Given the description of an element on the screen output the (x, y) to click on. 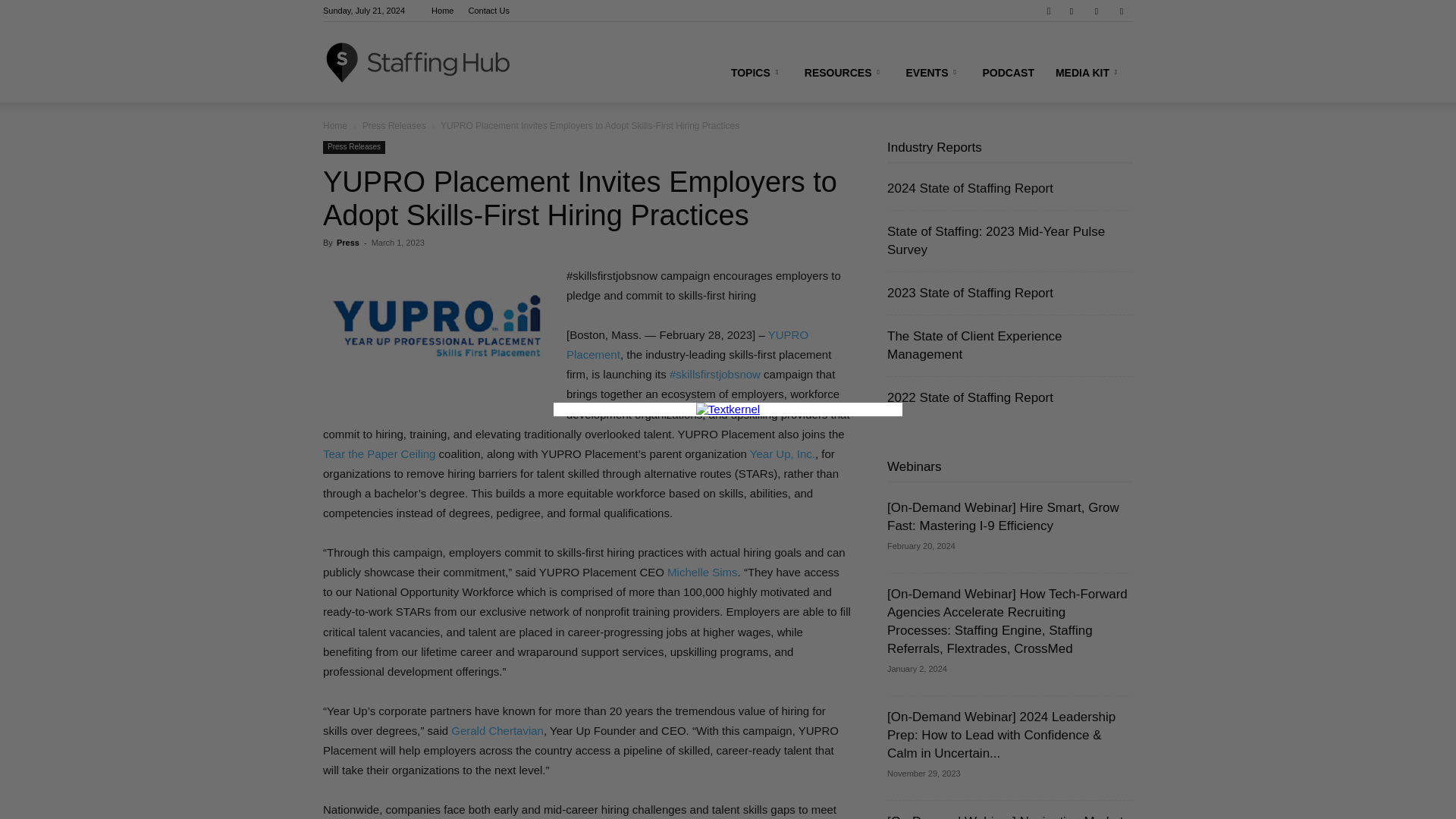
YUPRO logo new (436, 325)
TOPICS (756, 72)
Linkedin (1096, 10)
Contact Us (488, 10)
Staffing Hub (417, 62)
Home (441, 10)
View all posts in Press Releases (394, 125)
Facebook (1071, 10)
Twitter (1120, 10)
Search (1091, 64)
